Given the description of an element on the screen output the (x, y) to click on. 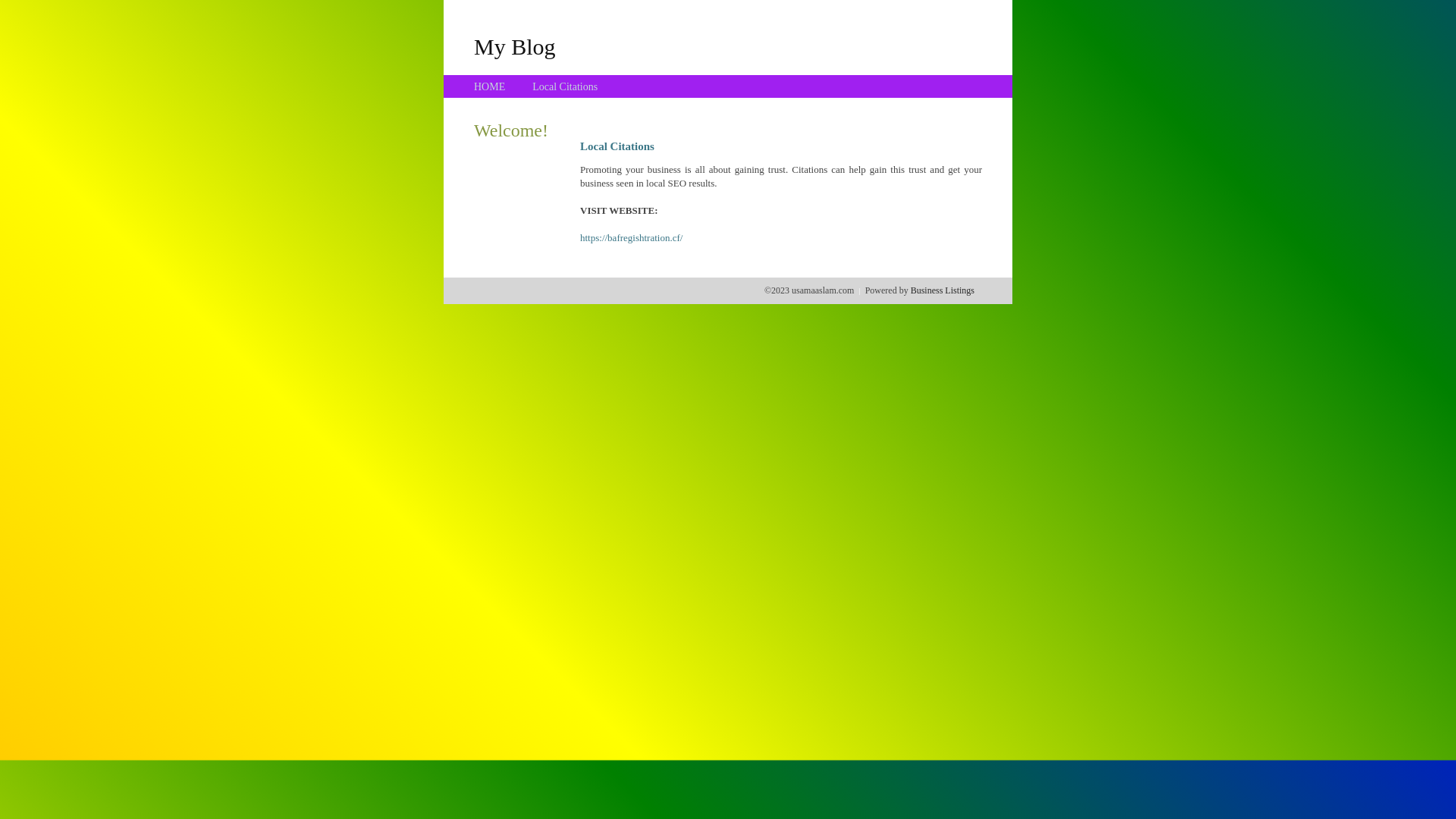
Business Listings Element type: text (942, 290)
HOME Element type: text (489, 86)
Local Citations Element type: text (564, 86)
https://bafregishtration.cf/ Element type: text (631, 237)
My Blog Element type: text (514, 46)
